Given the description of an element on the screen output the (x, y) to click on. 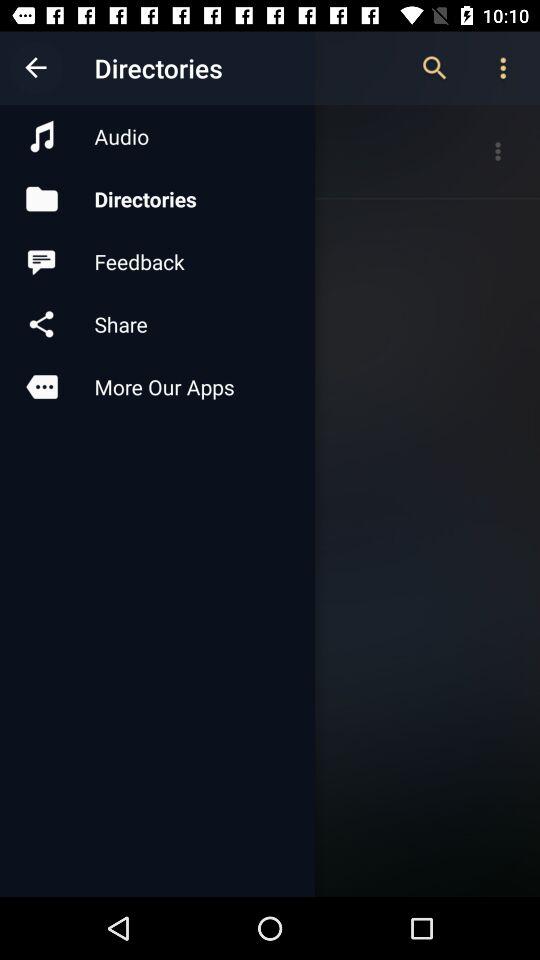
open the audio (157, 136)
